Given the description of an element on the screen output the (x, y) to click on. 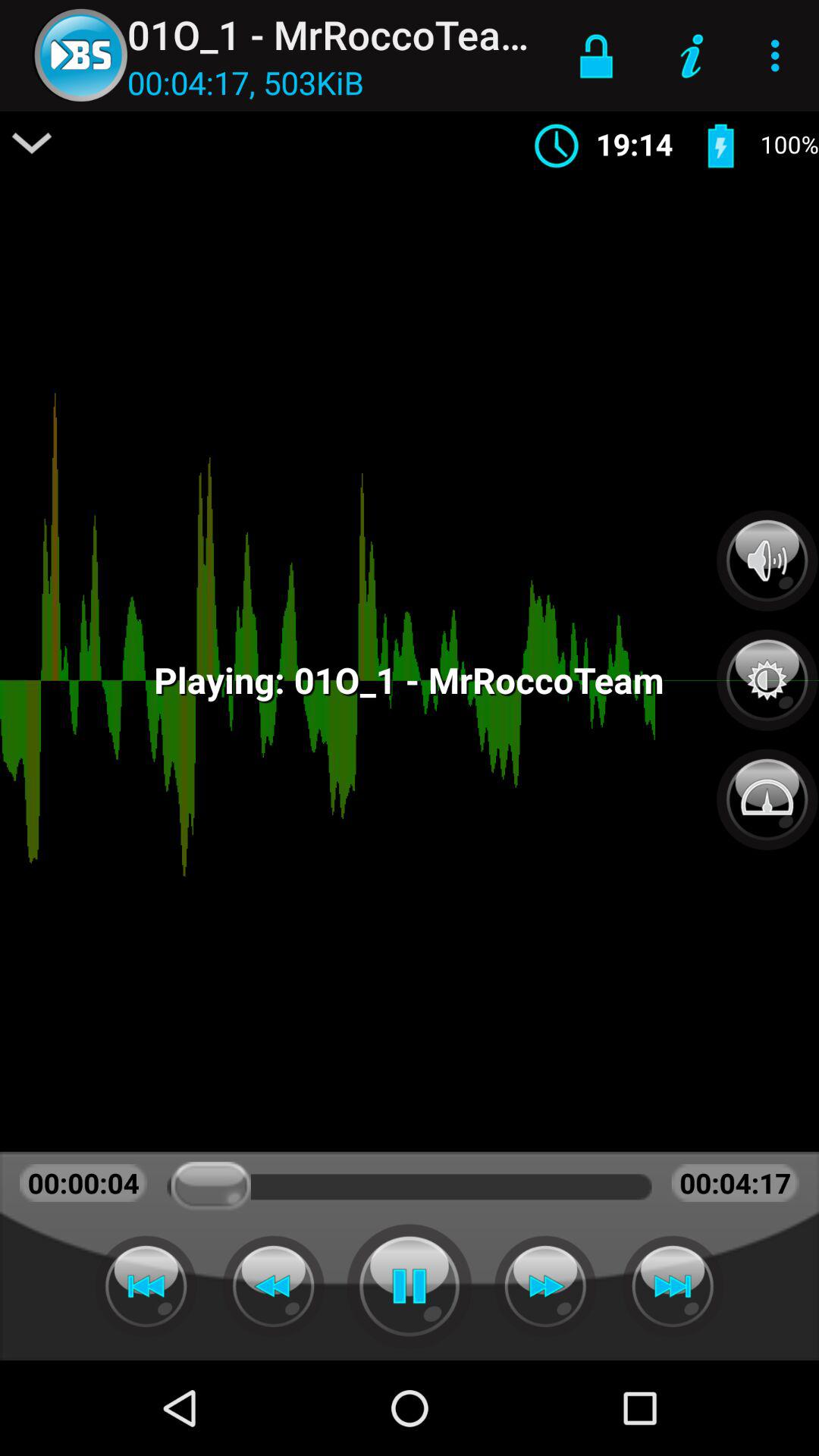
show more info (31, 143)
